Given the description of an element on the screen output the (x, y) to click on. 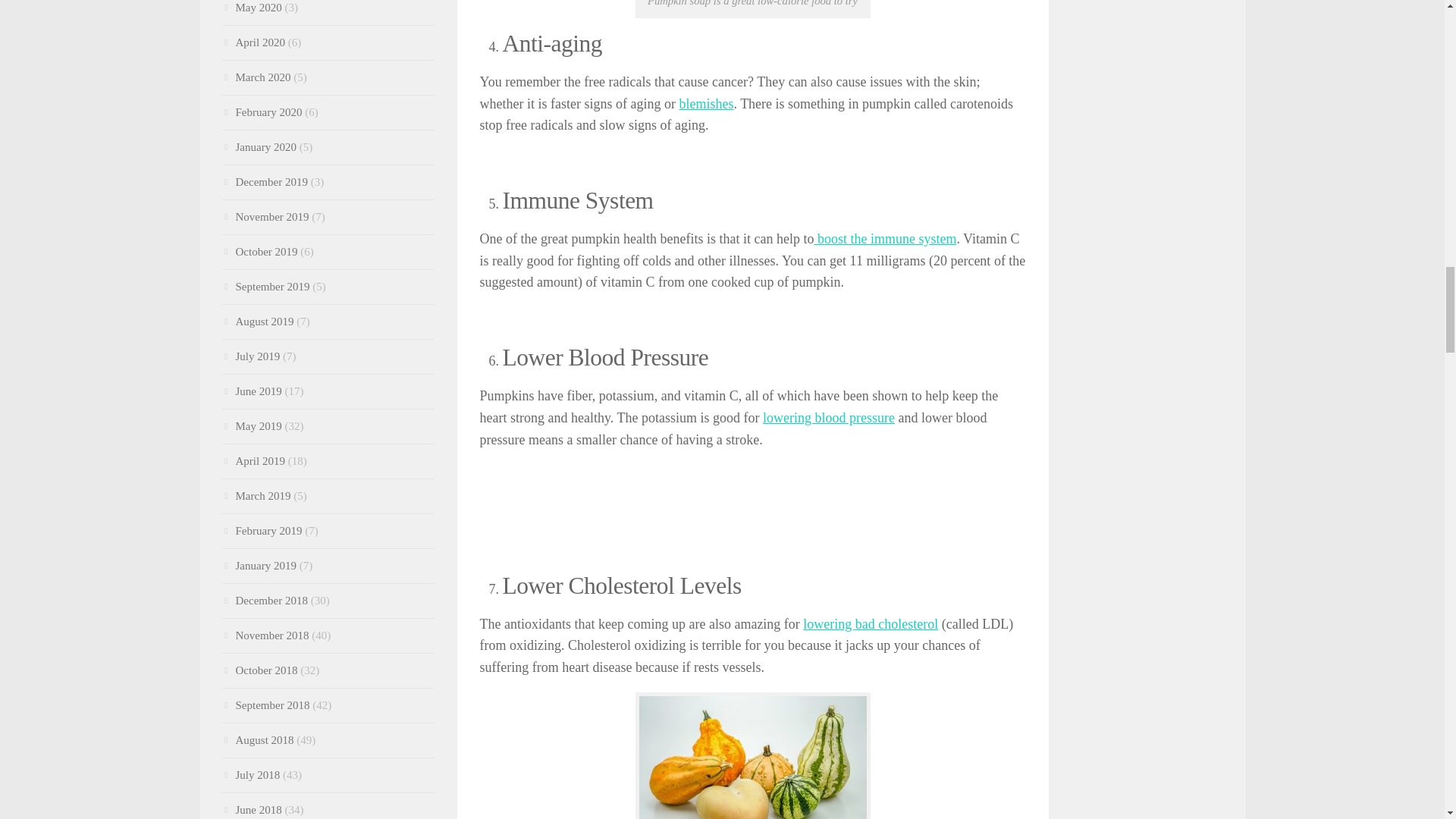
lowering blood pressure (828, 417)
blemishes (705, 102)
boost the immune system (884, 238)
lowering bad cholesterol (870, 623)
